Given the description of an element on the screen output the (x, y) to click on. 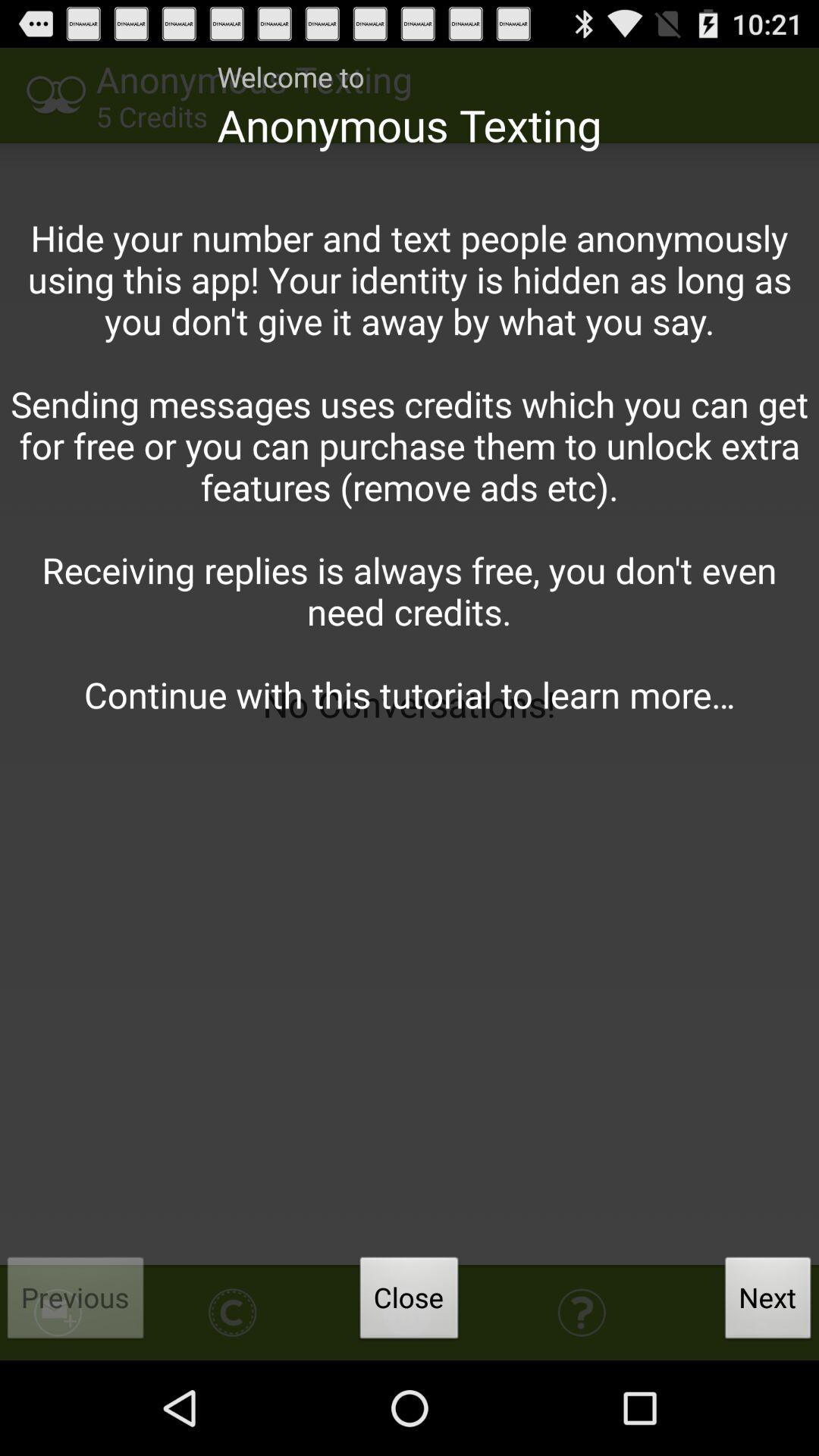
choose icon at the bottom left corner (75, 1302)
